Given the description of an element on the screen output the (x, y) to click on. 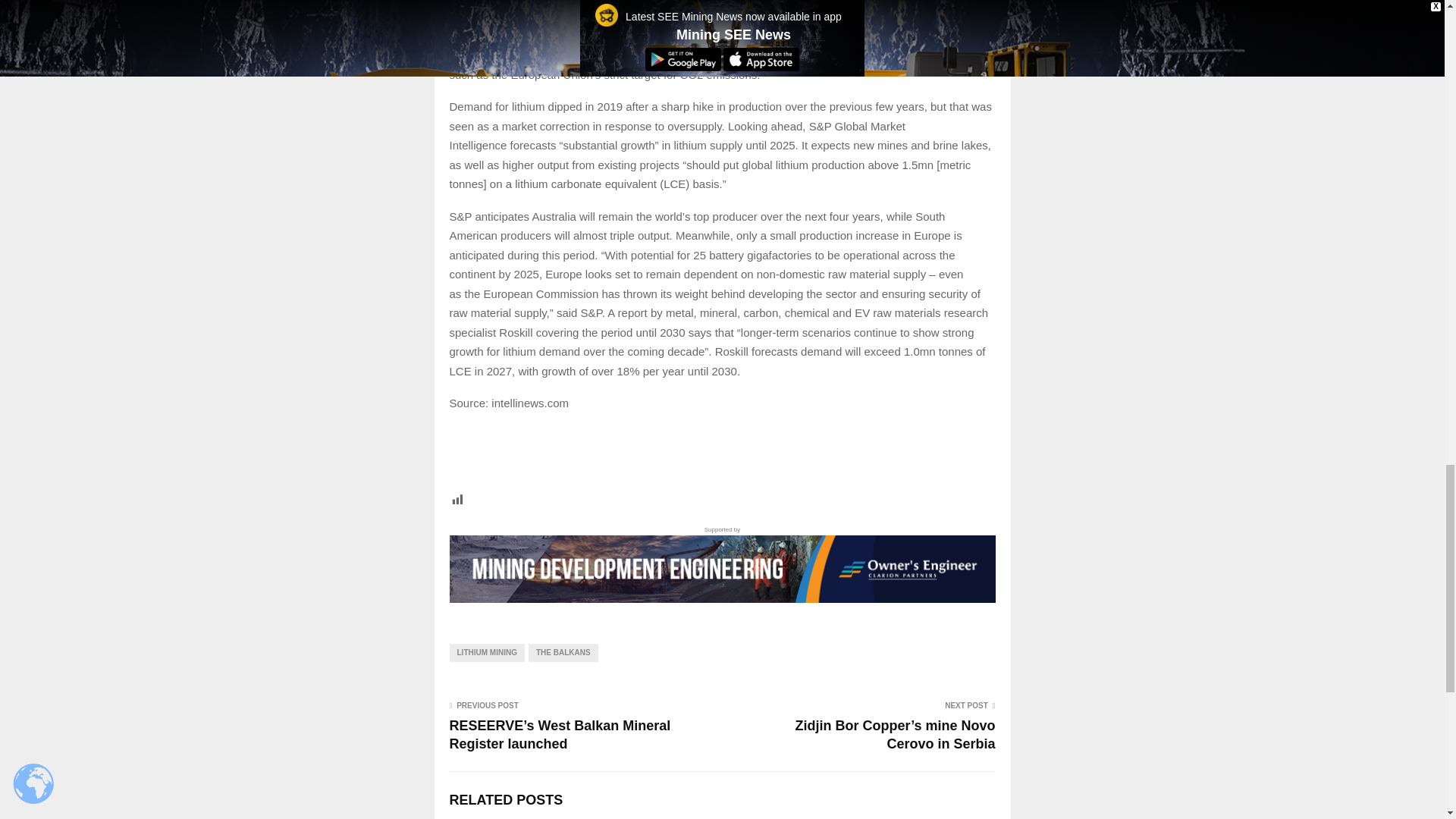
Supported by (721, 563)
THE BALKANS (563, 652)
LITHIUM MINING (486, 652)
